Given the description of an element on the screen output the (x, y) to click on. 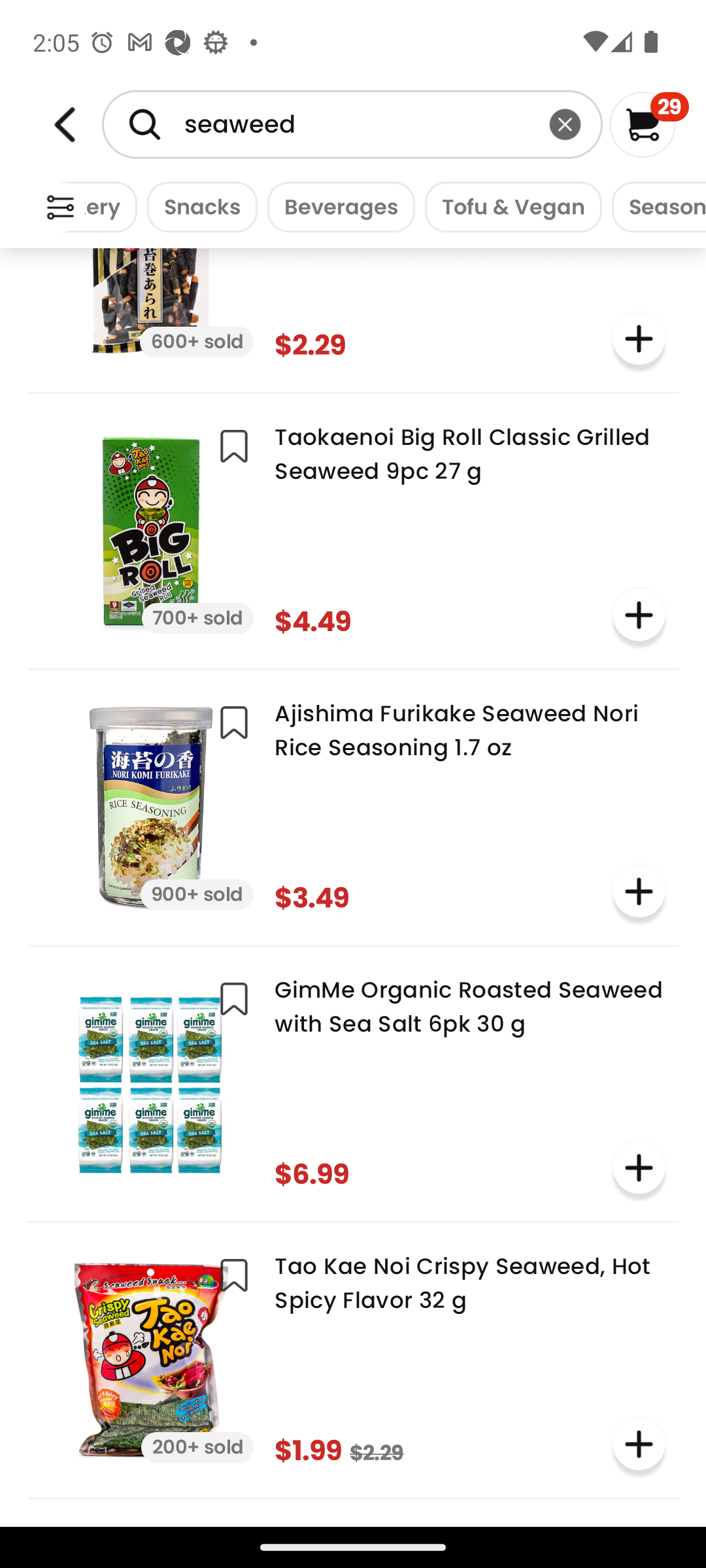
seaweed (351, 124)
29 (649, 124)
Weee! (60, 207)
Bakery (98, 206)
Snacks (196, 206)
Beverages (336, 206)
Tofu & Vegan (508, 206)
Seasoning (654, 206)
